Given the description of an element on the screen output the (x, y) to click on. 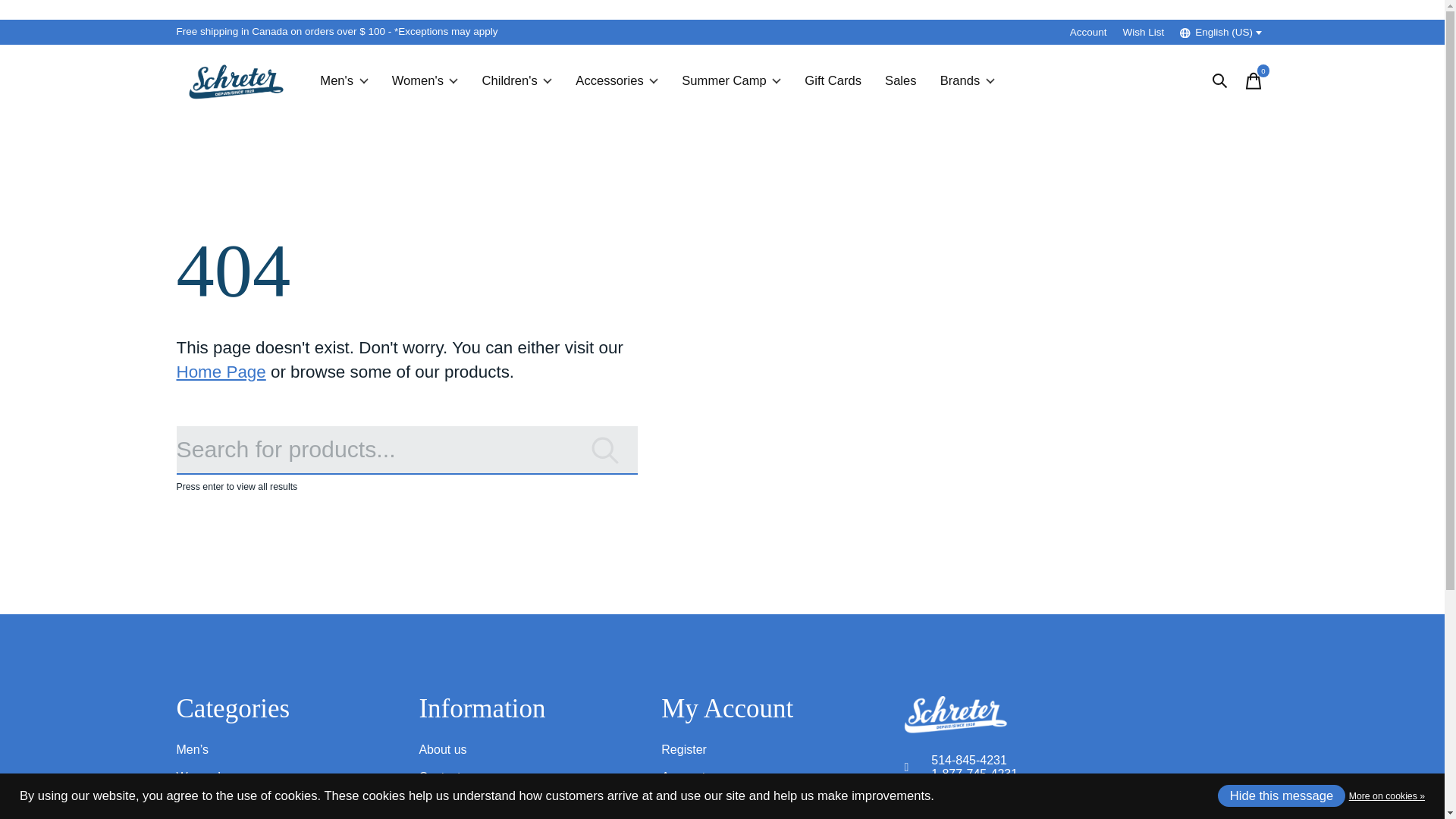
Wish List (1143, 32)
Men's (344, 81)
Account (1087, 32)
